Given the description of an element on the screen output the (x, y) to click on. 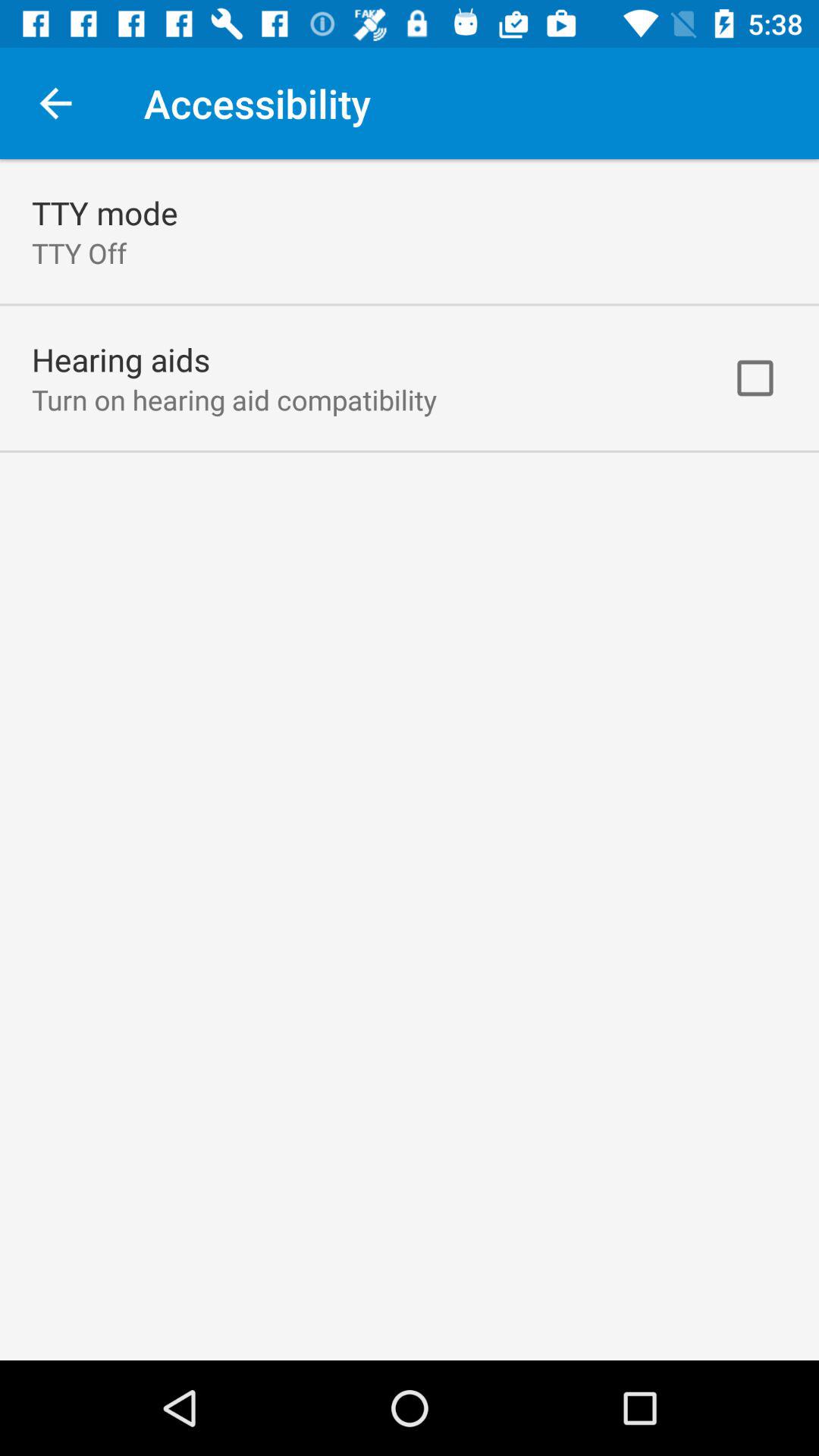
launch app to the right of turn on hearing icon (755, 378)
